Given the description of an element on the screen output the (x, y) to click on. 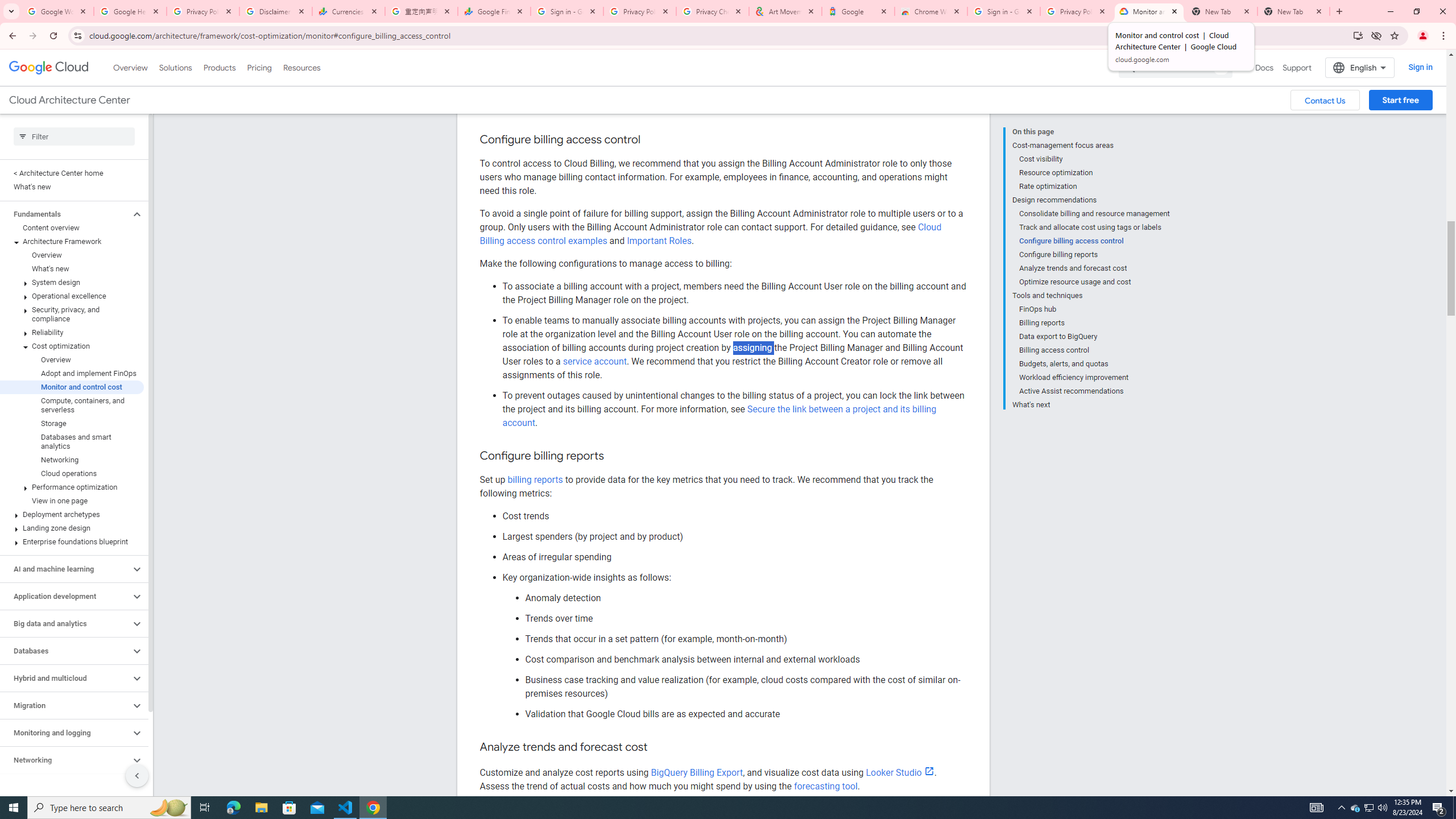
Optimize resource usage and cost (1094, 282)
billing reports (534, 479)
Enterprise foundations blueprint (72, 541)
Google Workspace Admin Community (57, 11)
Architecture Framework (72, 241)
Reliability and disaster recovery (64, 787)
English (1359, 67)
Application development (64, 596)
Storage (72, 423)
